Given the description of an element on the screen output the (x, y) to click on. 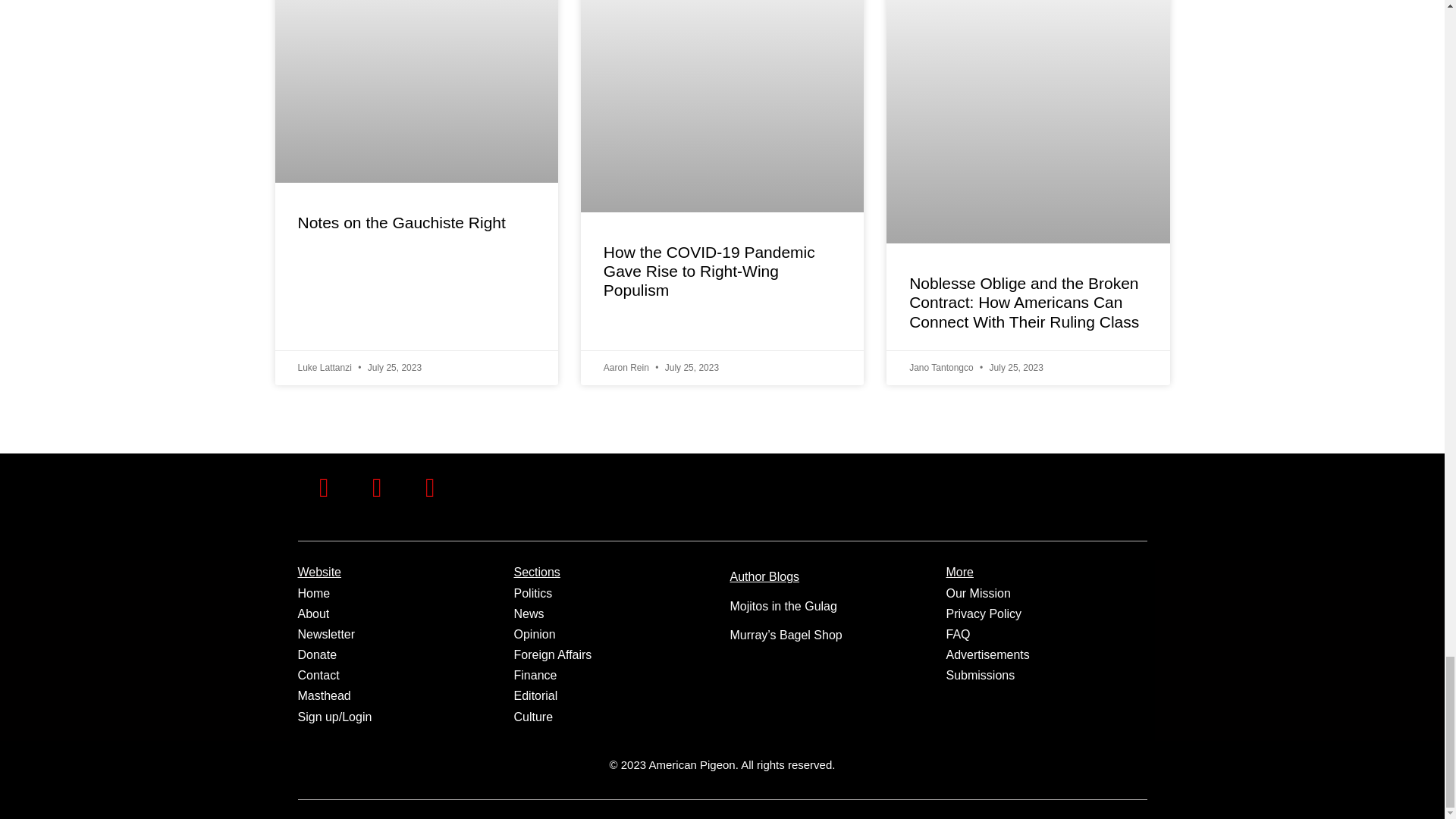
Newsletter (326, 634)
Notes on the Gauchiste Right (401, 221)
How the COVID-19 Pandemic Gave Rise to Right-Wing Populism (709, 270)
About (313, 613)
Home (313, 593)
